Given the description of an element on the screen output the (x, y) to click on. 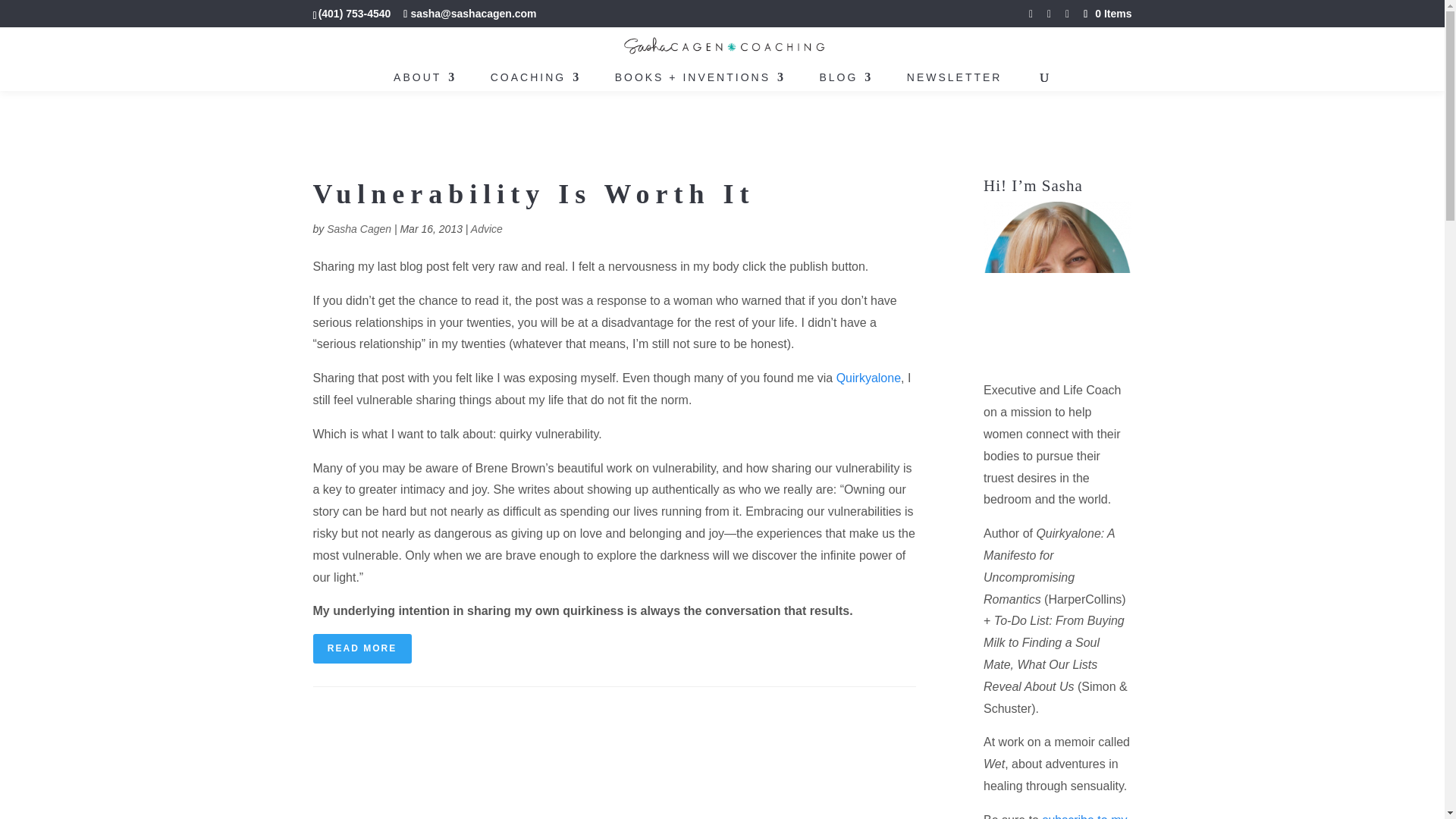
Quirkyalone (868, 377)
NEWSLETTER (955, 81)
0 Items (1105, 13)
Posts by Sasha Cagen (358, 228)
READ MORE (361, 648)
BLOG (845, 81)
Sasha Cagen (358, 228)
Vulnerability Is Worth It (533, 194)
ABOUT (425, 81)
subscribe to my newsletter (1055, 816)
COACHING (535, 81)
Advice (486, 228)
